Given the description of an element on the screen output the (x, y) to click on. 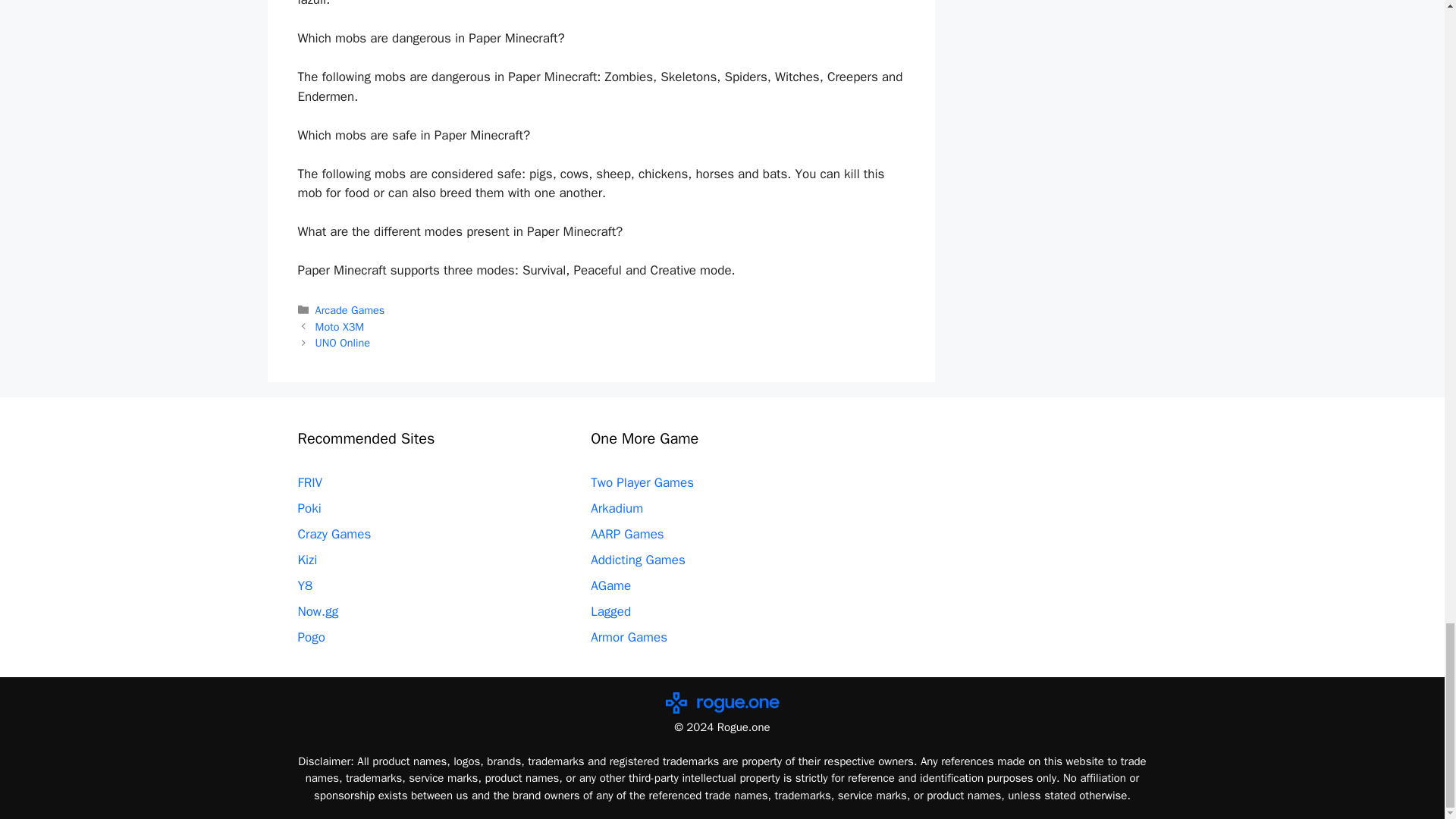
Lagged (610, 611)
AARP Games (627, 534)
FRIV (309, 482)
Previous (340, 326)
Addicting Games (638, 560)
Y8 (305, 585)
Now.gg (317, 611)
UNO Online (342, 342)
Kizi (307, 560)
Poki (308, 508)
Next (342, 342)
Crazy Games (334, 534)
AGame (610, 585)
Moto X3M (340, 326)
Arkadium (617, 508)
